Given the description of an element on the screen output the (x, y) to click on. 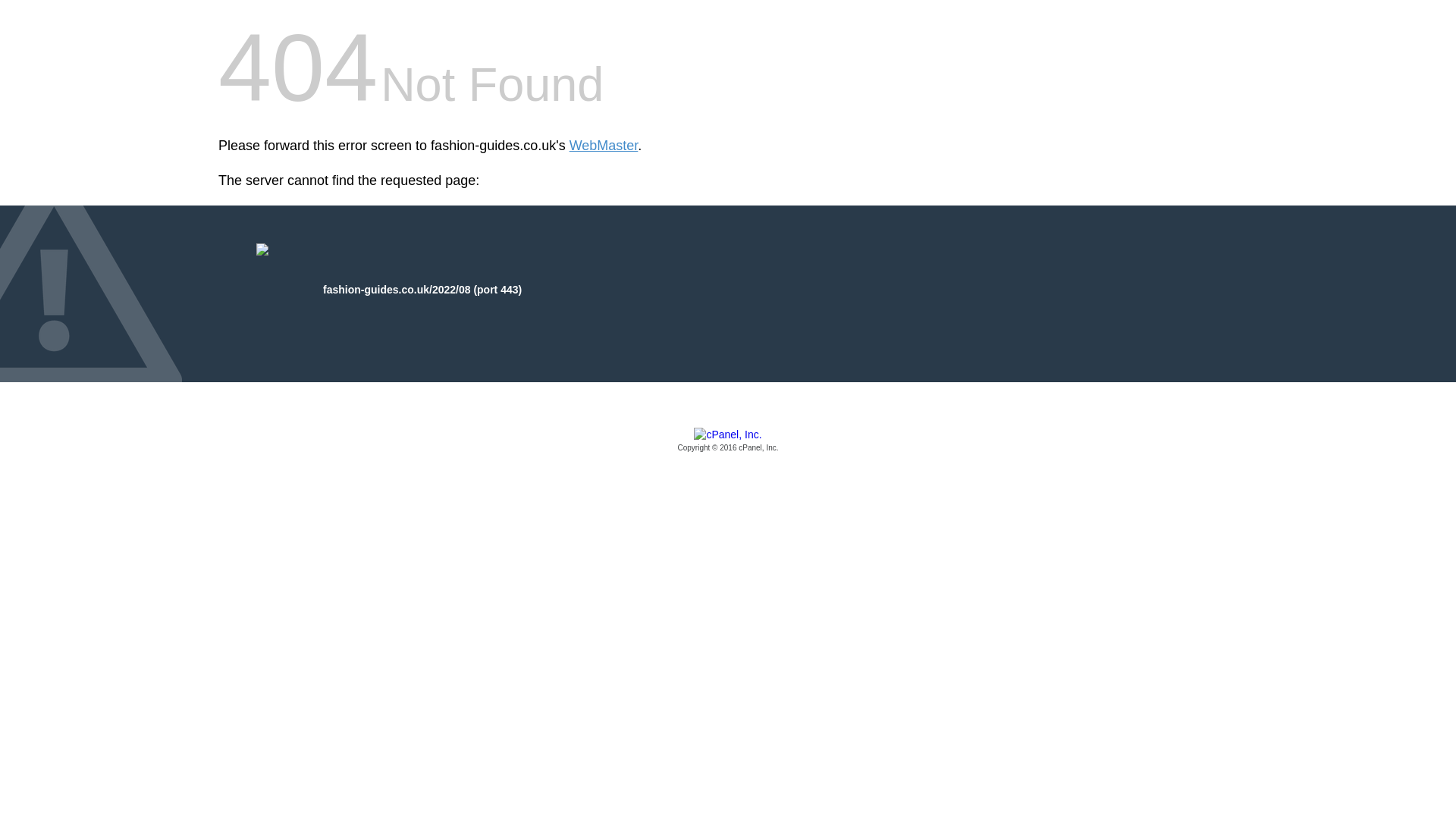
cPanel, Inc. (727, 440)
WebMaster (604, 145)
